Given the description of an element on the screen output the (x, y) to click on. 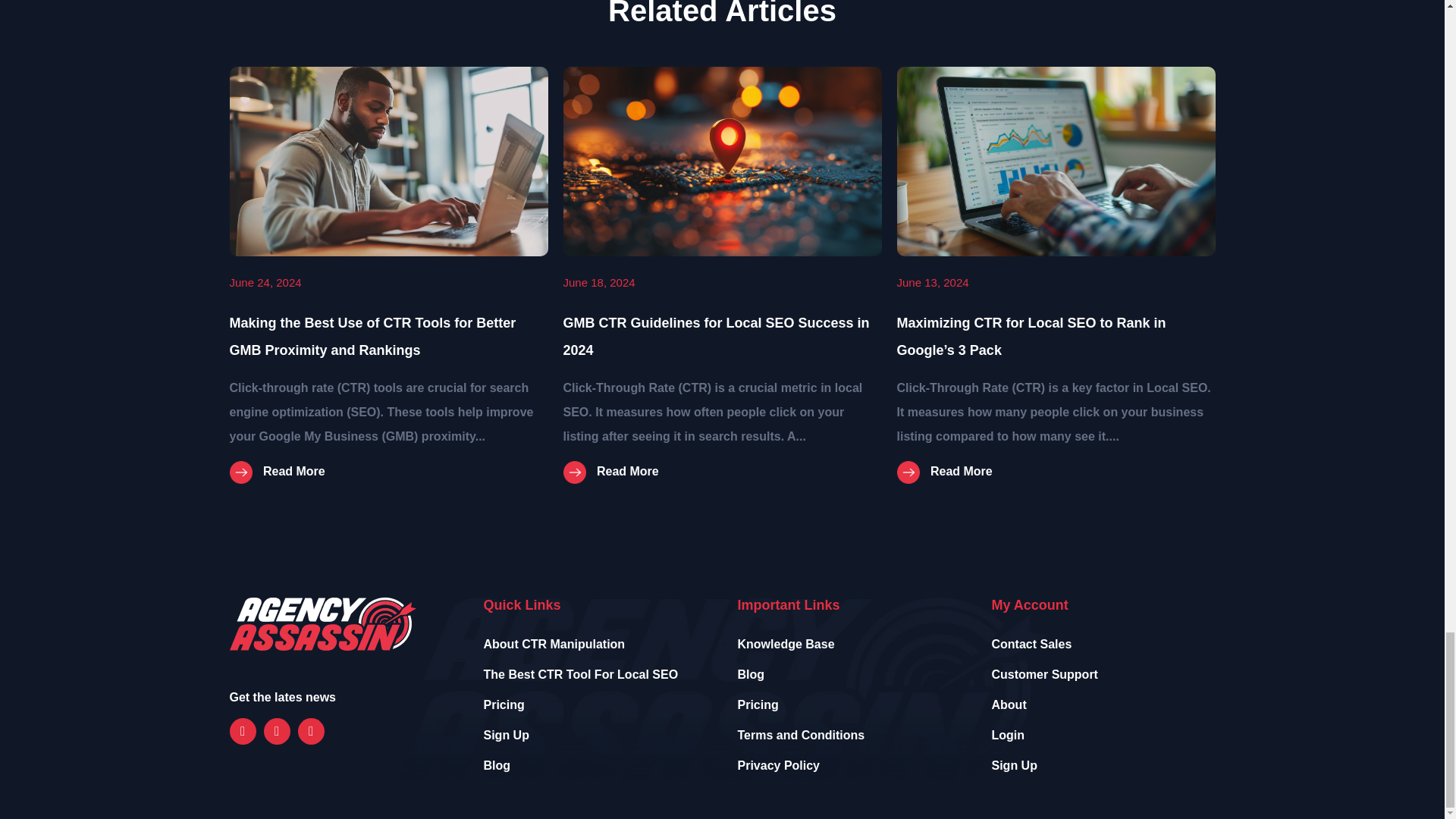
Read More (276, 471)
Read More (610, 471)
Read More (943, 472)
GMB CTR Guidelines for Local SEO Success in 2024 (715, 336)
About CTR Manipulation (554, 644)
Sign Up (506, 735)
Pricing (503, 704)
GMB CTR Guidelines for Local SEO Success in 2024 (715, 336)
The Best CTR Tool For Local SEO (580, 674)
Read More (276, 472)
Read More (943, 471)
Blog (497, 765)
Read More (610, 472)
